Given the description of an element on the screen output the (x, y) to click on. 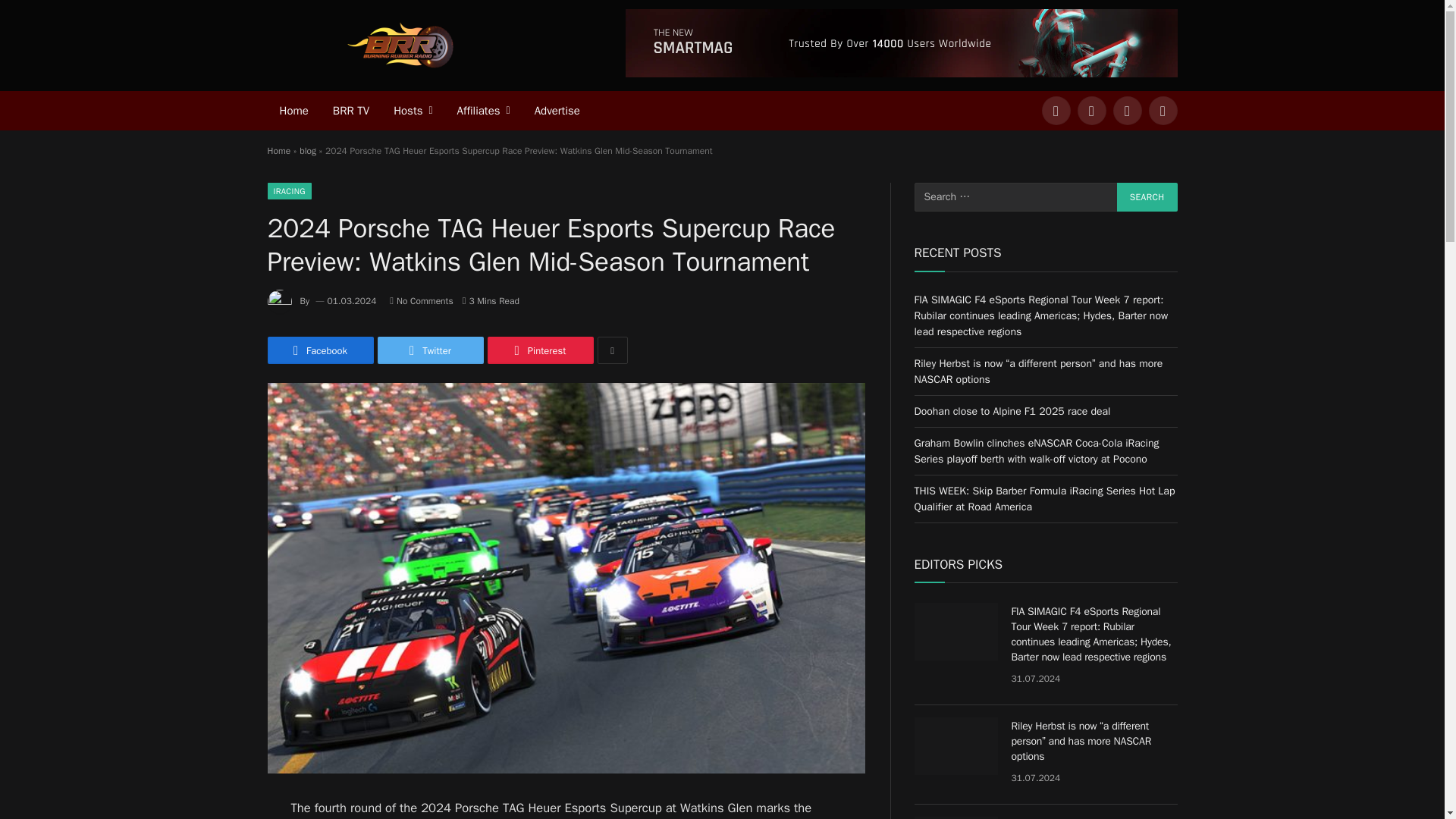
Burning Rubber Radio (399, 45)
IRACING (288, 190)
Facebook (319, 349)
BRR TV (350, 110)
Twitter (430, 349)
Share on Facebook (319, 349)
Search (1146, 196)
Pinterest (539, 349)
Instagram (1127, 110)
Facebook (1056, 110)
blog (307, 150)
Hosts (412, 110)
Affiliates (483, 110)
Share on Pinterest (539, 349)
YouTube (1162, 110)
